Given the description of an element on the screen output the (x, y) to click on. 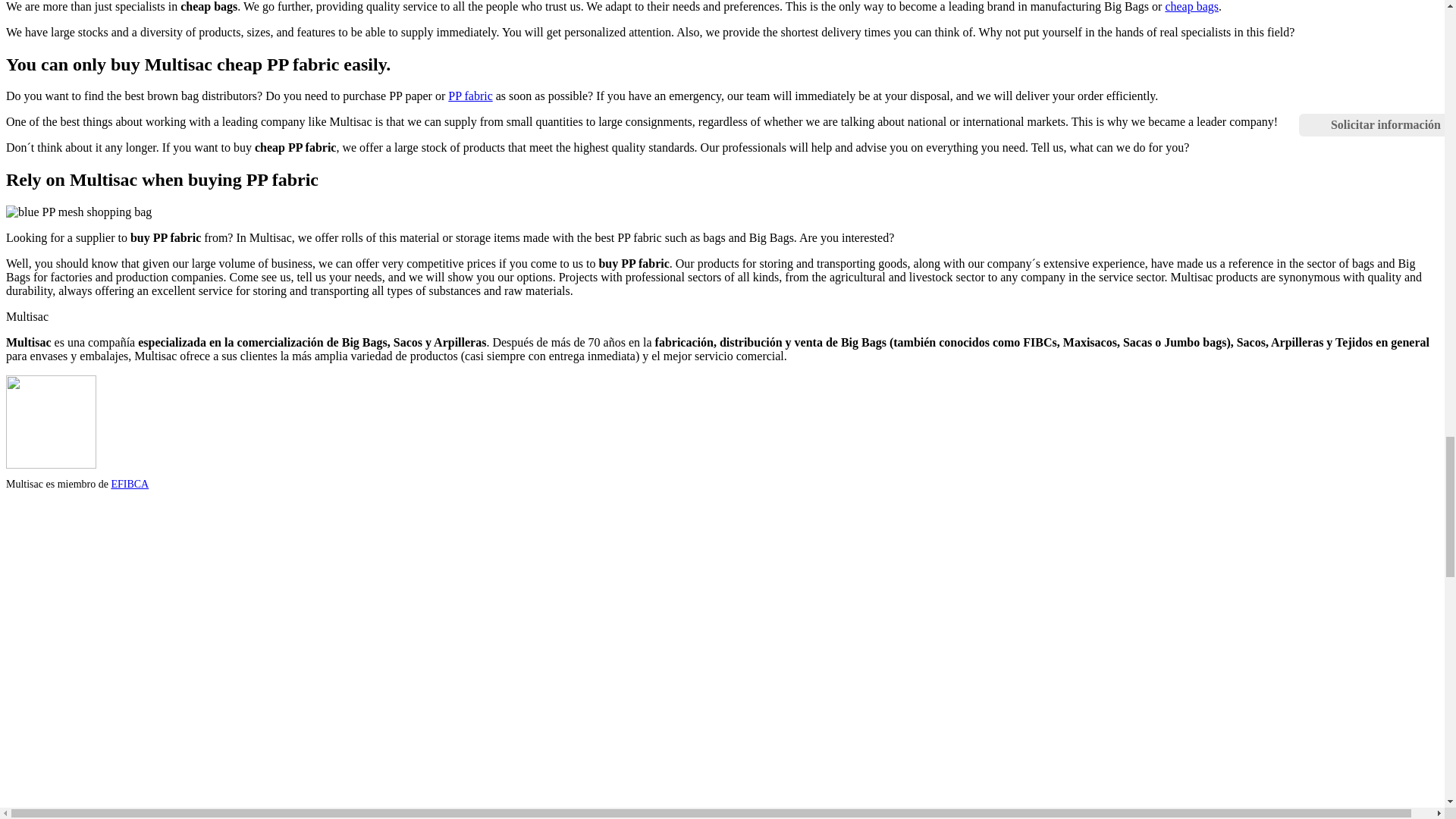
PP fabric (470, 95)
